Given the description of an element on the screen output the (x, y) to click on. 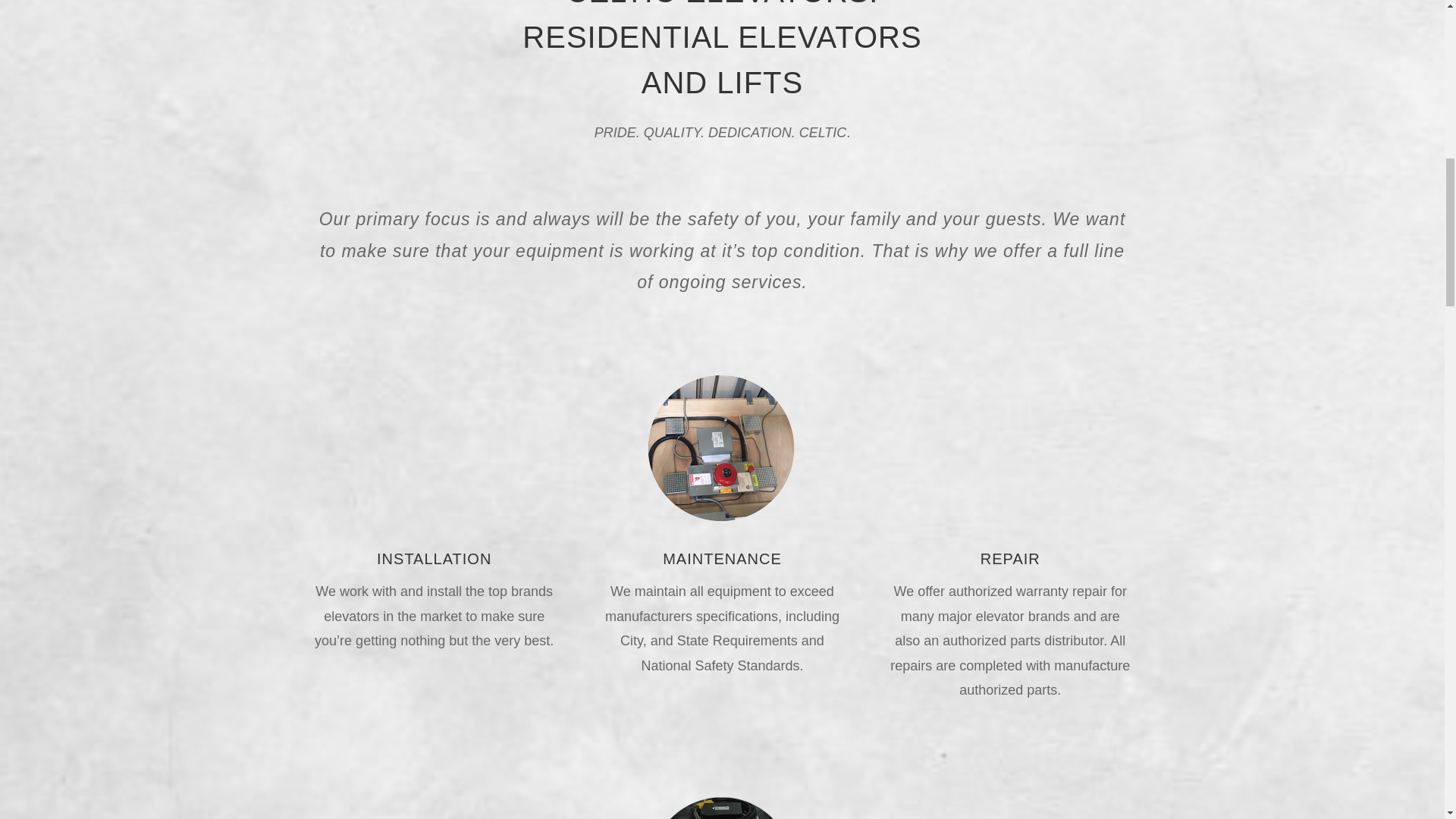
Home 5 (721, 806)
Home 2 (721, 447)
